Given the description of an element on the screen output the (x, y) to click on. 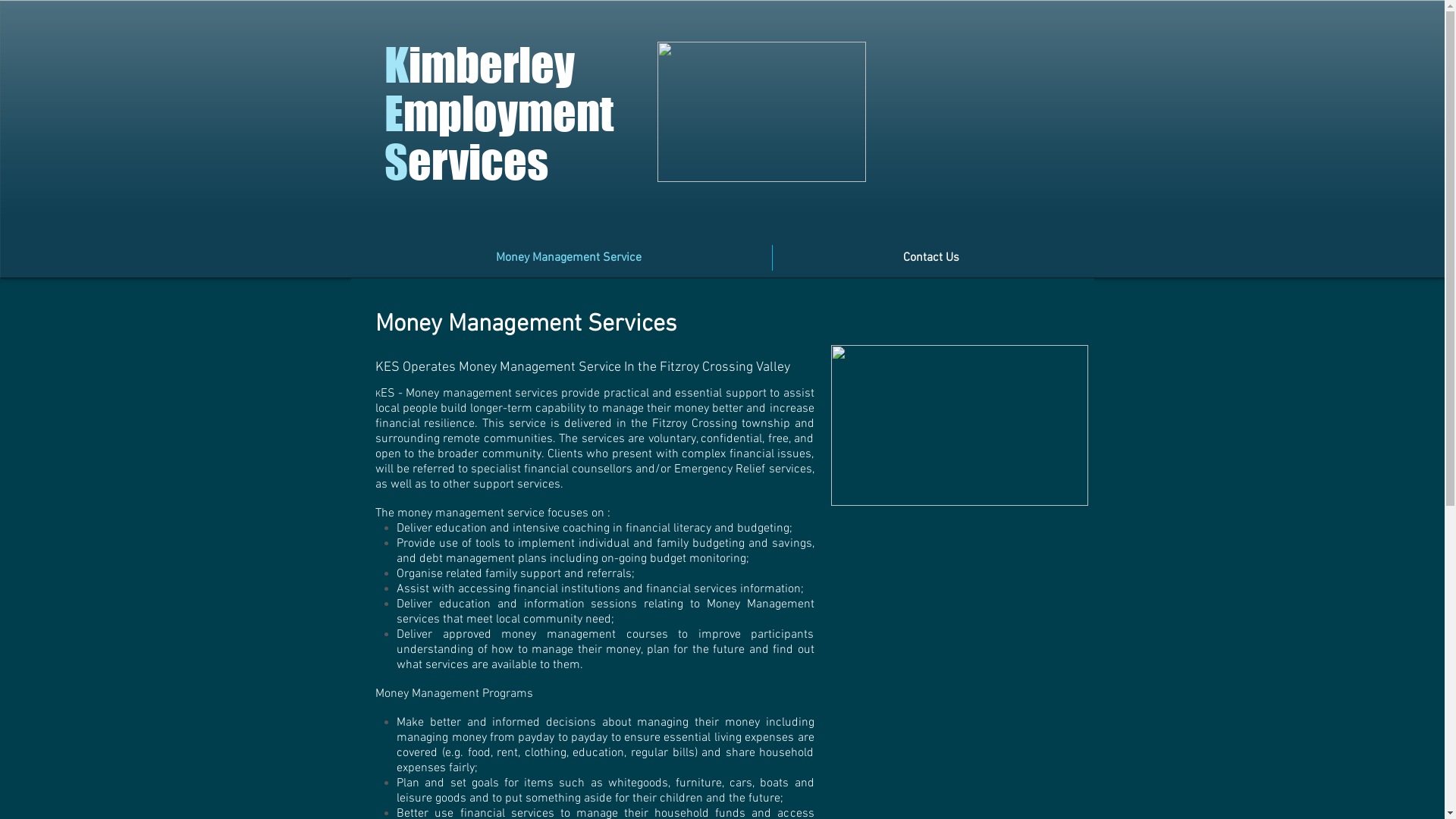
Services Element type: text (465, 161)
Contact Us Element type: text (929, 257)
Money Management Service Element type: text (568, 257)
Kimberley Element type: text (478, 64)
Employment Element type: text (497, 112)
